Given the description of an element on the screen output the (x, y) to click on. 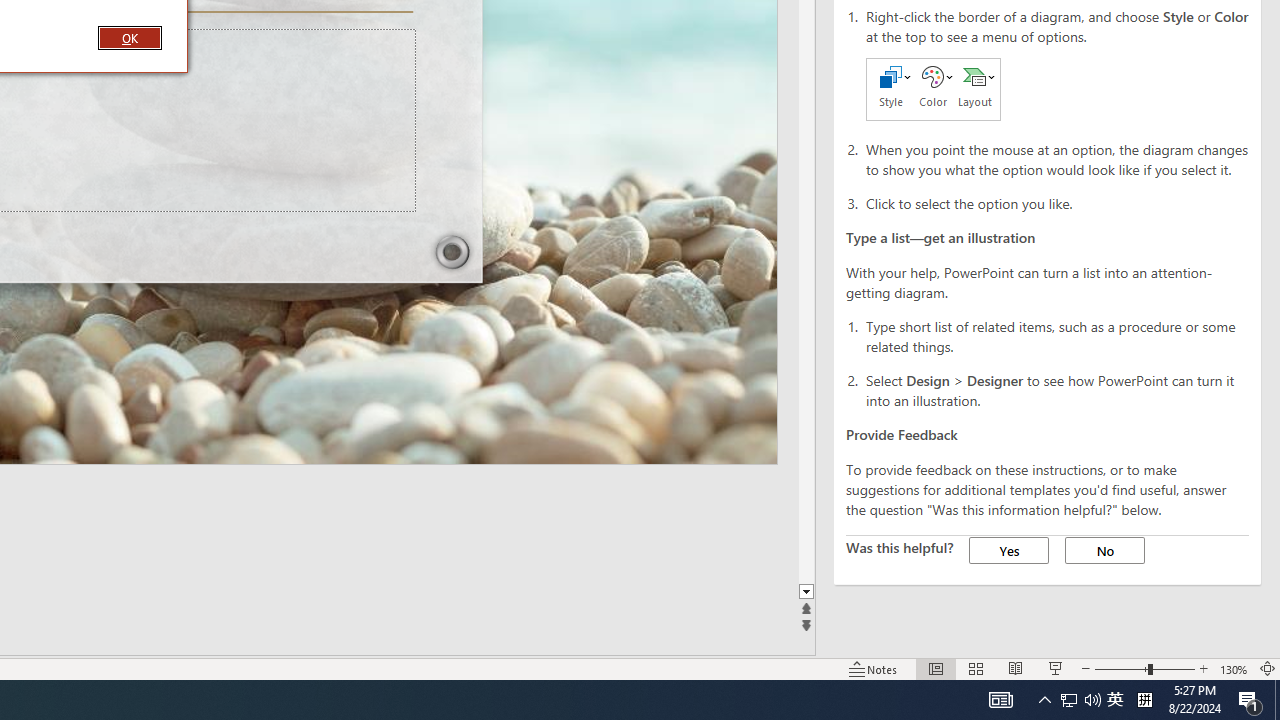
OK (130, 37)
Click to select the option you like. (1057, 202)
No (1104, 550)
Zoom 130% (1234, 668)
